Given the description of an element on the screen output the (x, y) to click on. 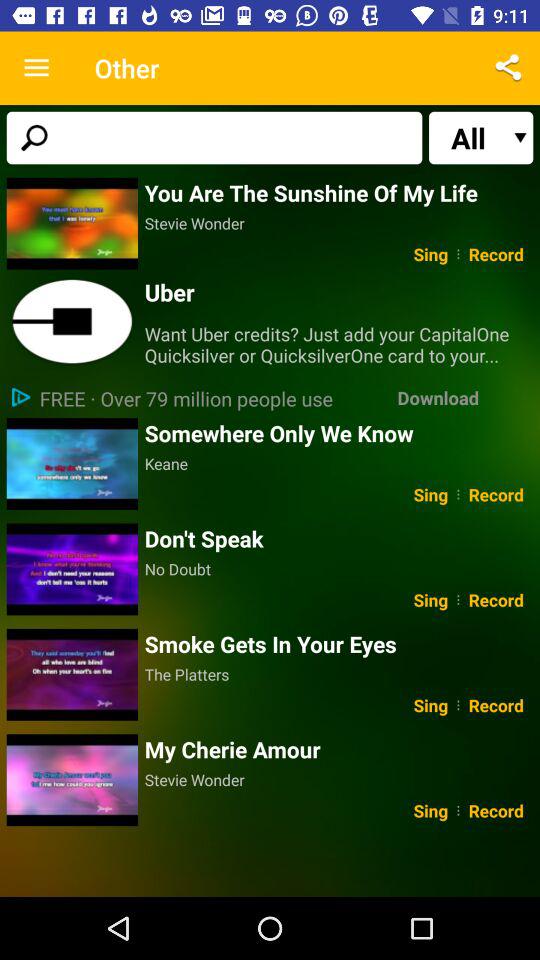
turn off item above stevie wonder (338, 192)
